Given the description of an element on the screen output the (x, y) to click on. 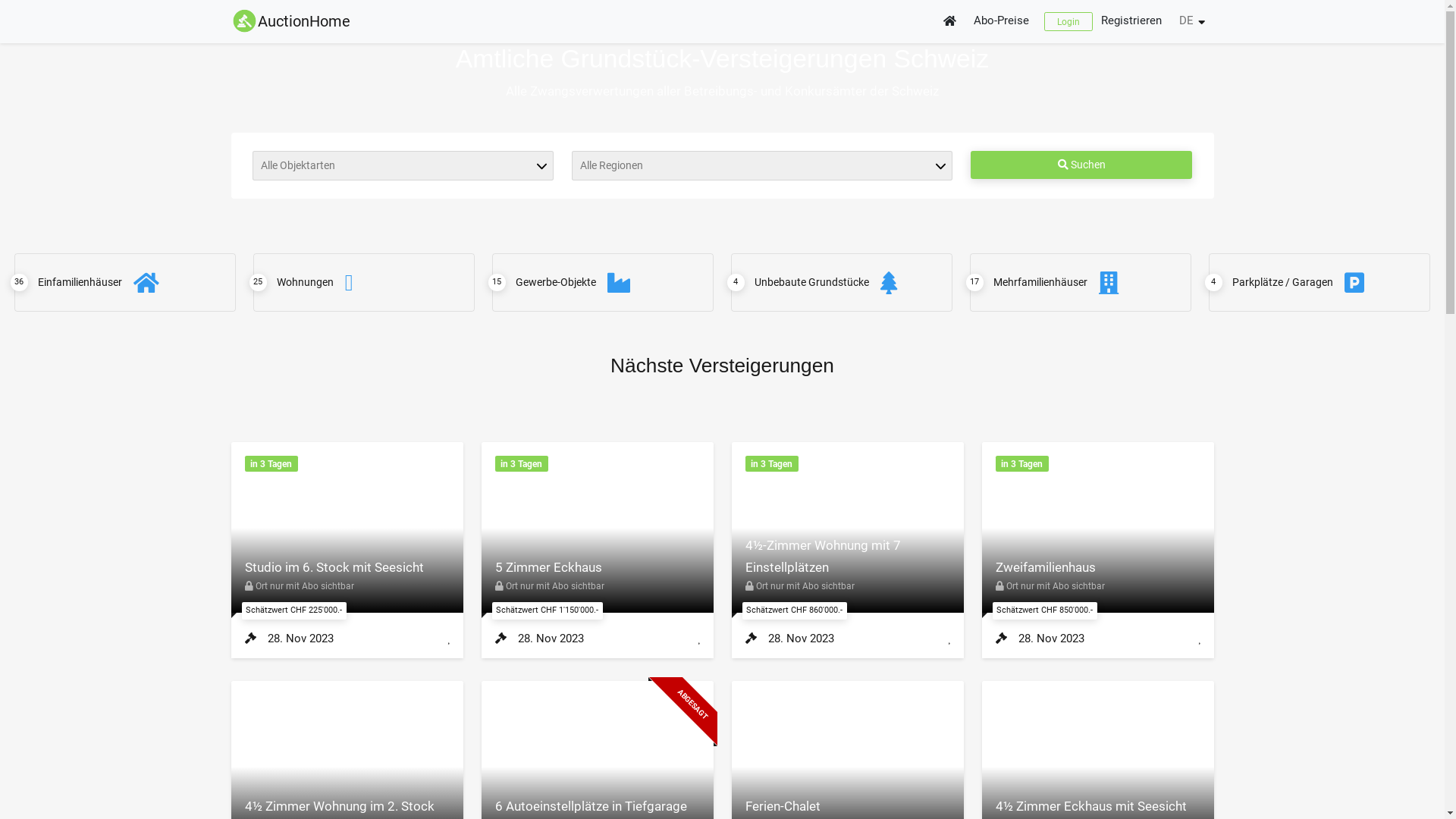
 Auktion merken Element type: hover (449, 638)
Registrieren Element type: text (1131, 20)
Login Element type: text (1068, 21)
 Auktion merken Element type: hover (1199, 638)
15
Gewerbe-Objekte Element type: text (603, 282)
 Auktion merken Element type: hover (699, 638)
AuctionHome Element type: text (289, 21)
Suchen Element type: text (1081, 164)
25
Wohnungen Element type: text (364, 282)
Abo-Preise Element type: text (1001, 20)
DE Element type: text (1190, 20)
 Auktion merken Element type: hover (949, 638)
